Given the description of an element on the screen output the (x, y) to click on. 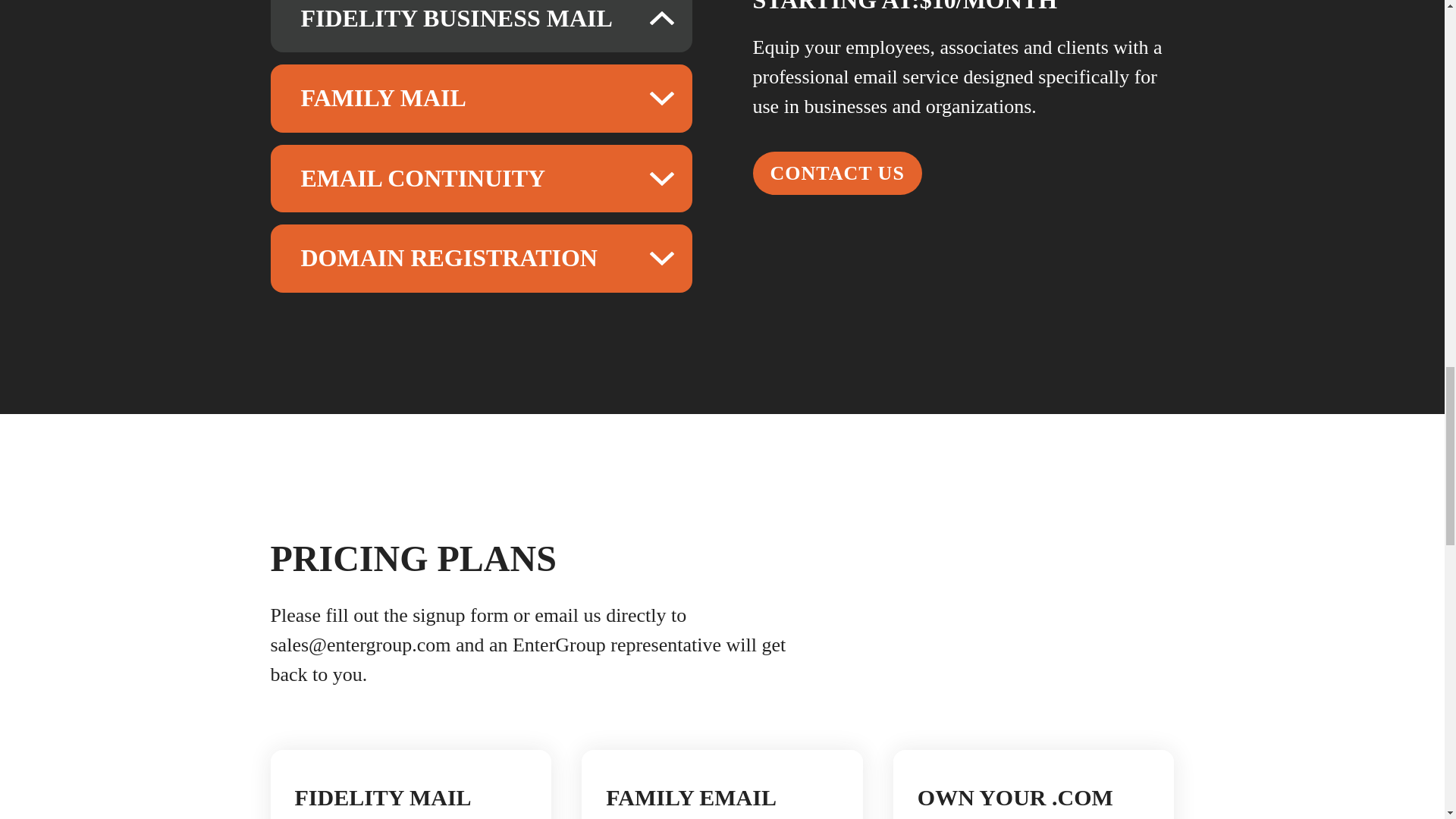
EMAIL CONTINUITY (480, 178)
FAMILY MAIL (480, 98)
DOMAIN REGISTRATION (480, 258)
CONTACT US (836, 172)
FIDELITY BUSINESS MAIL (480, 26)
